Given the description of an element on the screen output the (x, y) to click on. 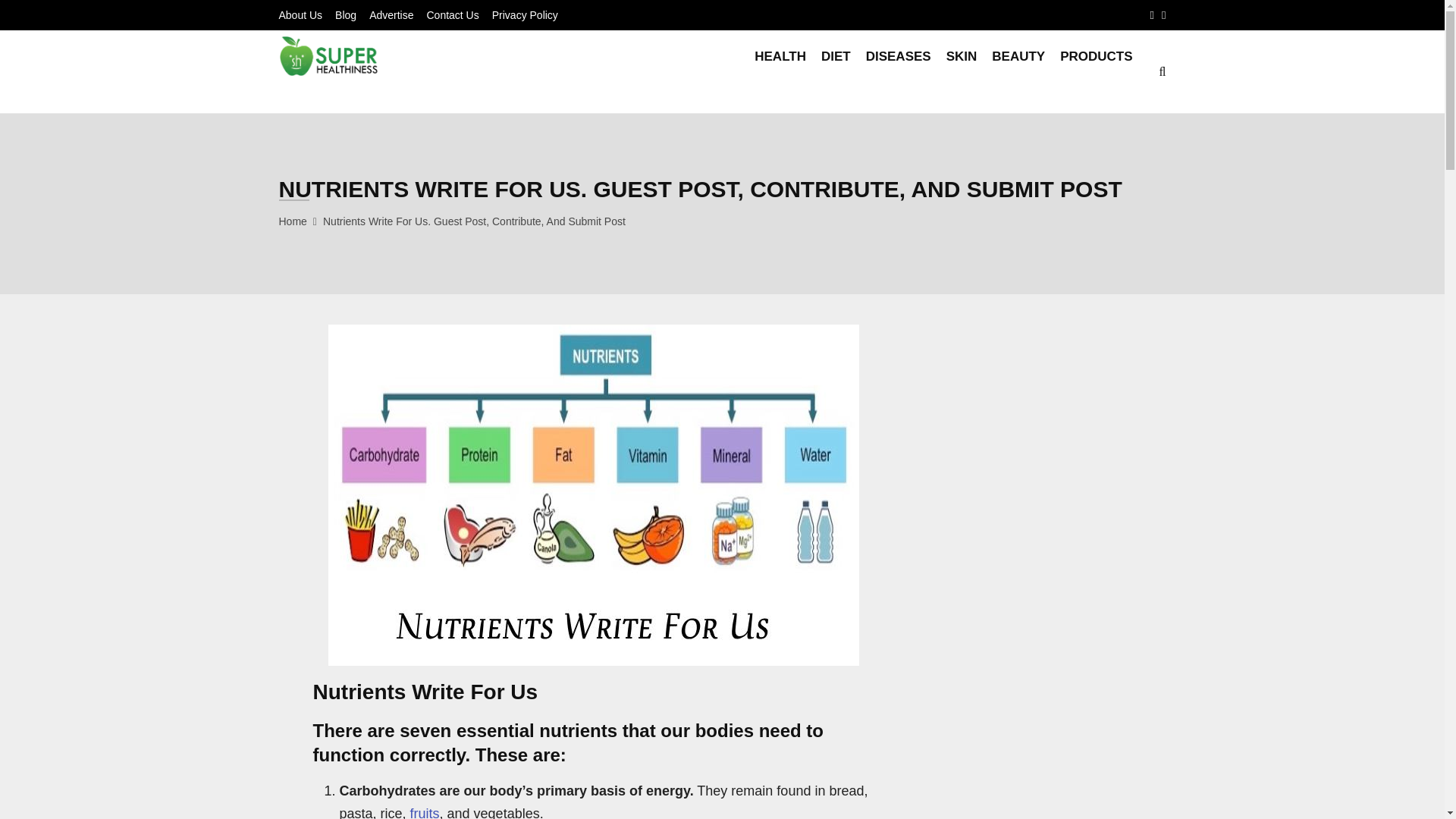
Home (293, 221)
Advertise (391, 15)
PRODUCTS (1095, 71)
About Us (301, 15)
Blog (345, 15)
fruits (424, 812)
Privacy Policy (524, 15)
Contact Us (452, 15)
